Given the description of an element on the screen output the (x, y) to click on. 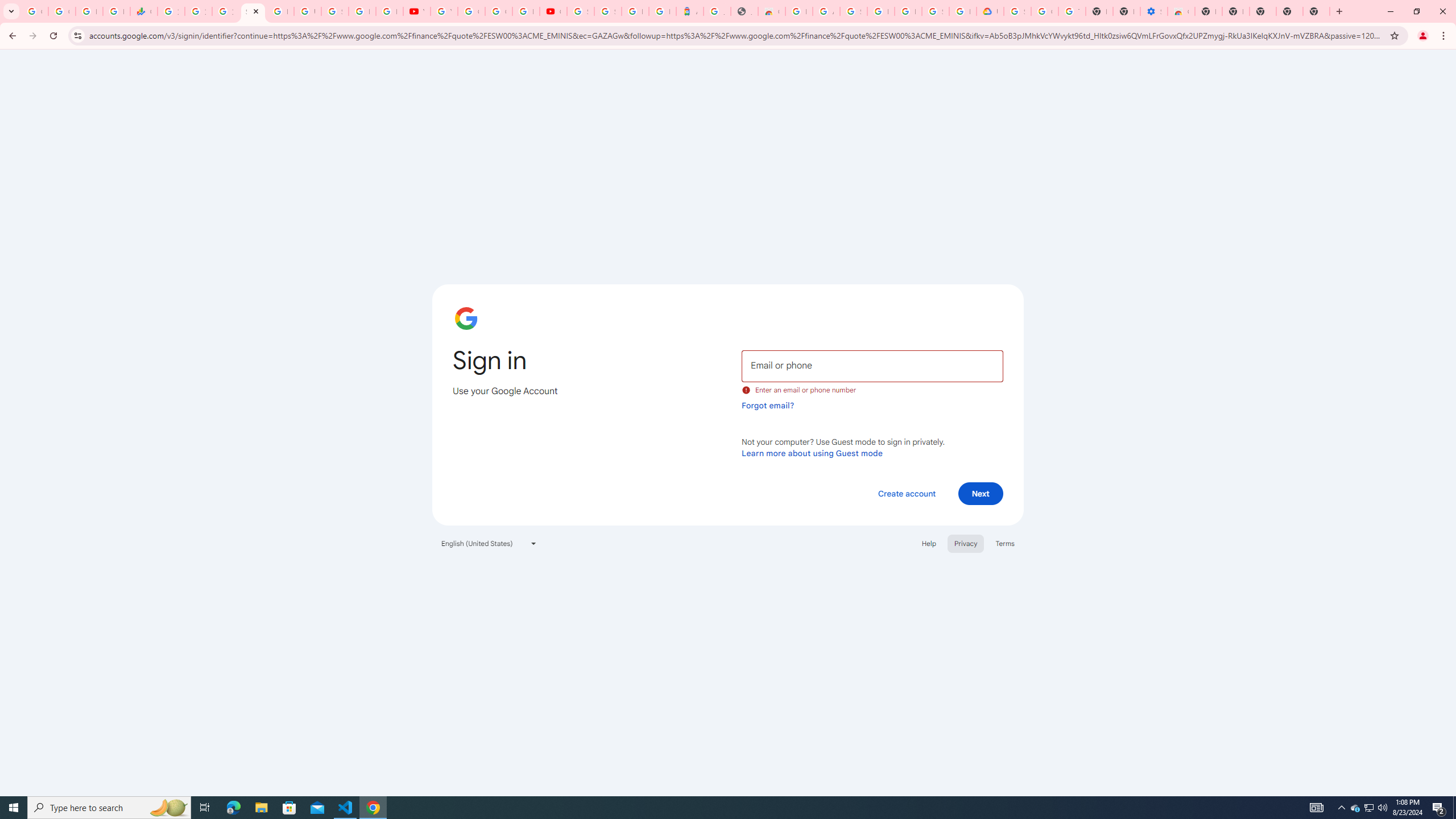
Content Creator Programs & Opportunities - YouTube Creators (553, 11)
Google Workspace Admin Community (34, 11)
Sign in - Google Accounts (334, 11)
Forgot email? (767, 404)
Sign in - Google Accounts (607, 11)
Sign in - Google Accounts (935, 11)
Turn cookies on or off - Computer - Google Account Help (1071, 11)
